Given the description of an element on the screen output the (x, y) to click on. 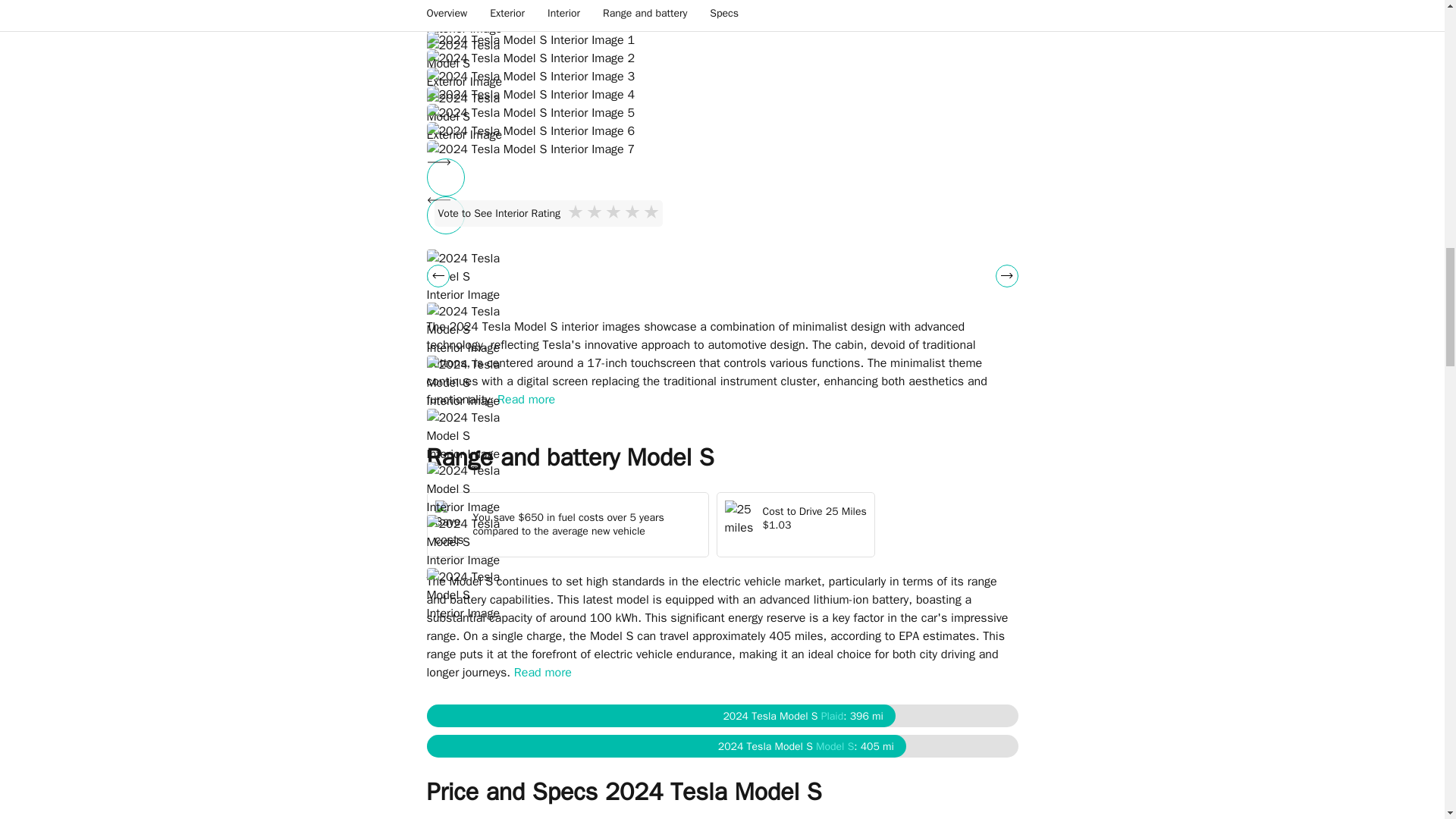
Exterior Image 2024 Tesla Model S 6 (467, 115)
Interior Image 2024 Tesla Model S 6 (721, 131)
Interior Image 2024 Tesla Model S 2 (721, 58)
Interior Image 2024 Tesla Model S 1 (721, 40)
Interior Image 2024 Tesla Model S 3 (721, 76)
Interior Image 2024 Tesla Model S 4 (721, 94)
Exterior Image 2024 Tesla Model S 4 (467, 18)
Interior Image 2024 Tesla Model S 5 (721, 113)
Exterior Image 2024 Tesla Model S 5 (467, 62)
